Given the description of an element on the screen output the (x, y) to click on. 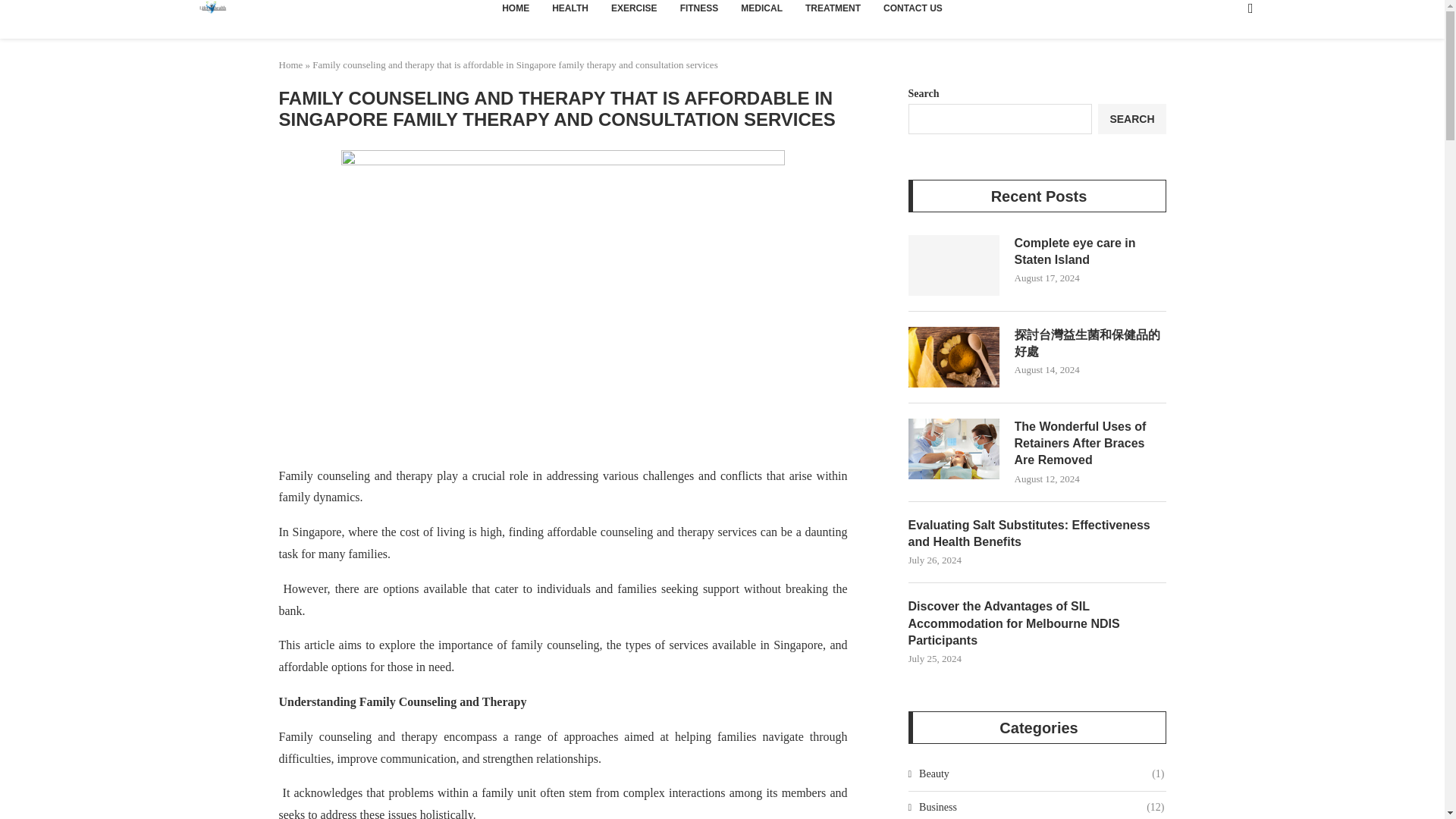
MEDICAL (761, 15)
HOME (515, 15)
CONTACT US (912, 15)
EXERCISE (633, 15)
Complete eye care in Staten Island (1090, 252)
FITNESS (699, 15)
Complete eye care in Staten Island (953, 265)
HEALTH (569, 15)
TREATMENT (832, 15)
